Given the description of an element on the screen output the (x, y) to click on. 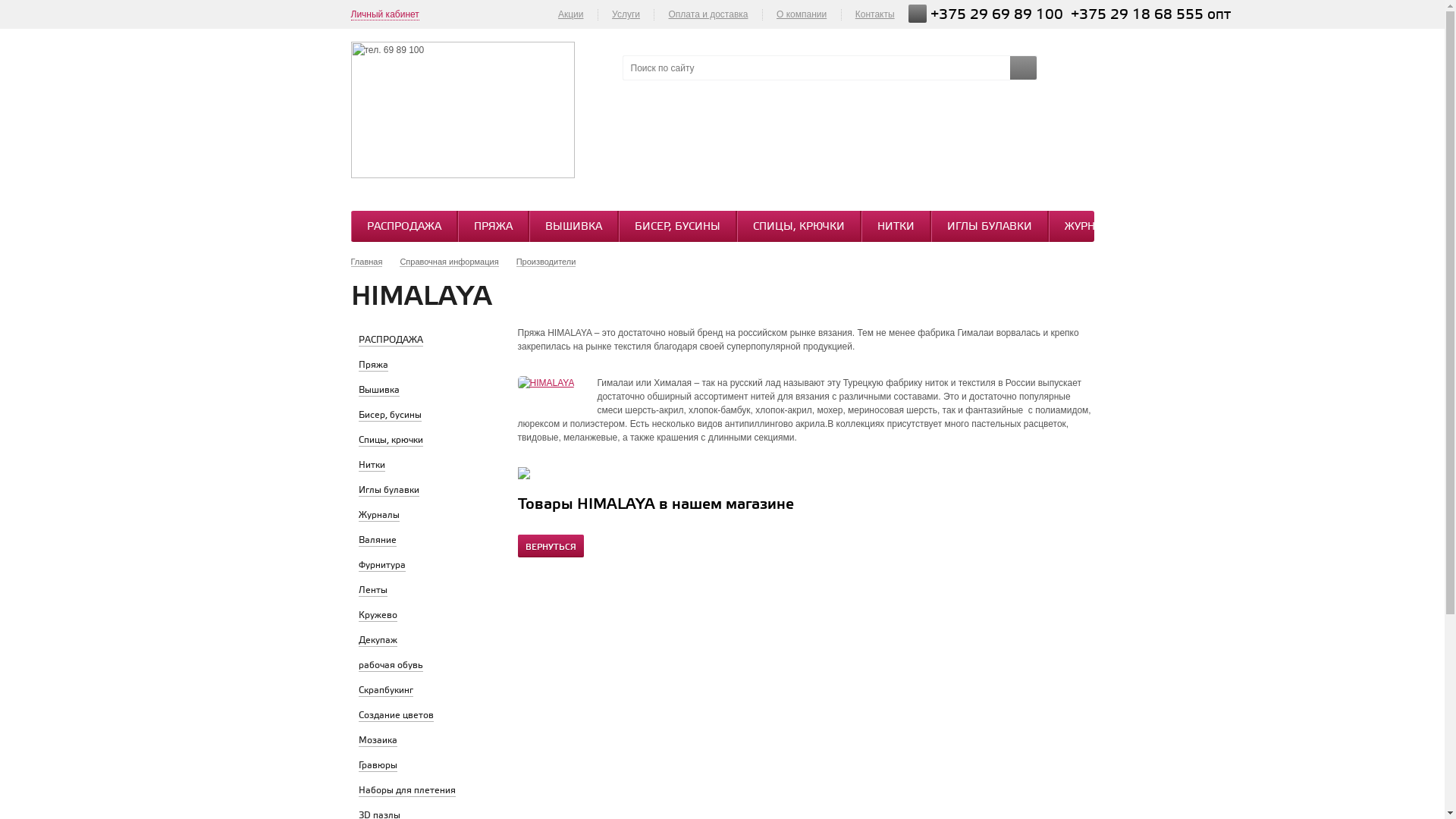
HIMALAYA Element type: hover (545, 382)
